Given the description of an element on the screen output the (x, y) to click on. 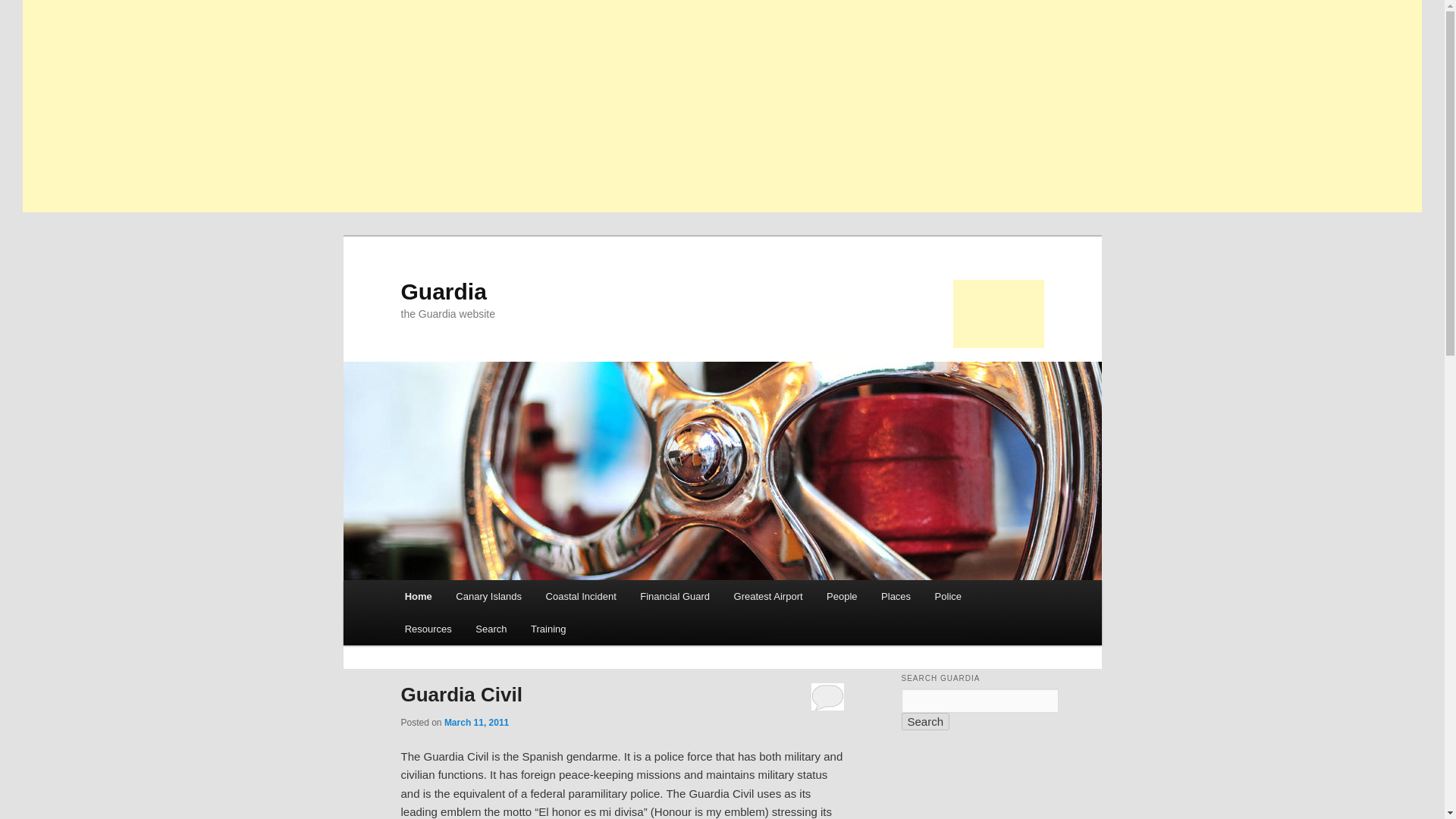
Resources (428, 628)
Home (418, 595)
Guardia (443, 291)
Canary Islands (489, 595)
Search (925, 721)
Financial Guard (675, 595)
Training (548, 628)
Greatest Airport (768, 595)
Police (948, 595)
